Given the description of an element on the screen output the (x, y) to click on. 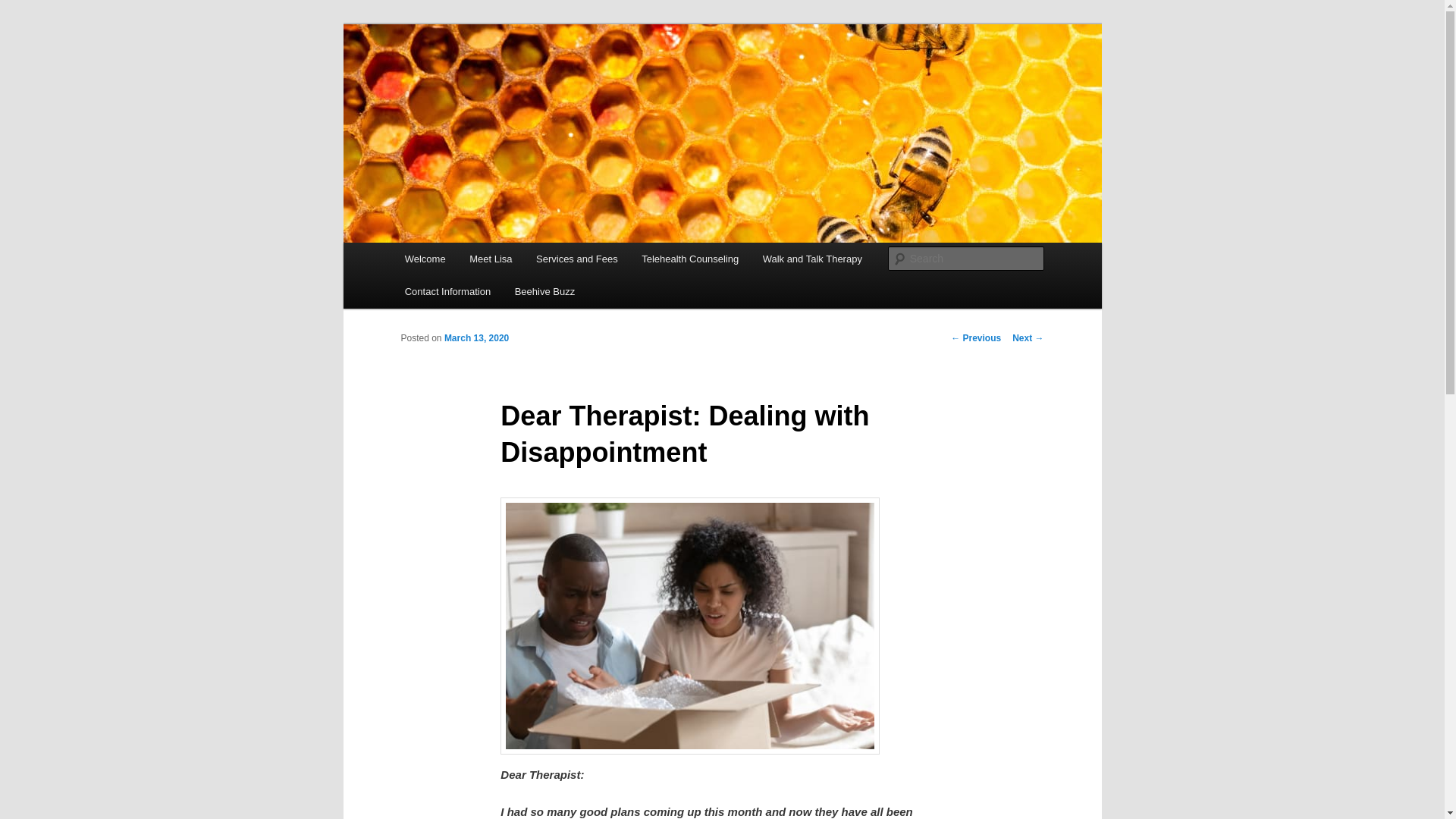
Search (24, 8)
Contact Information (447, 291)
Welcome (425, 258)
Services and Fees (576, 258)
Beehive Buzz (544, 291)
Telehealth Counseling (688, 258)
7:00 am (476, 337)
Lisa Kothari Counseling (531, 78)
Walk and Talk Therapy (813, 258)
